Given the description of an element on the screen output the (x, y) to click on. 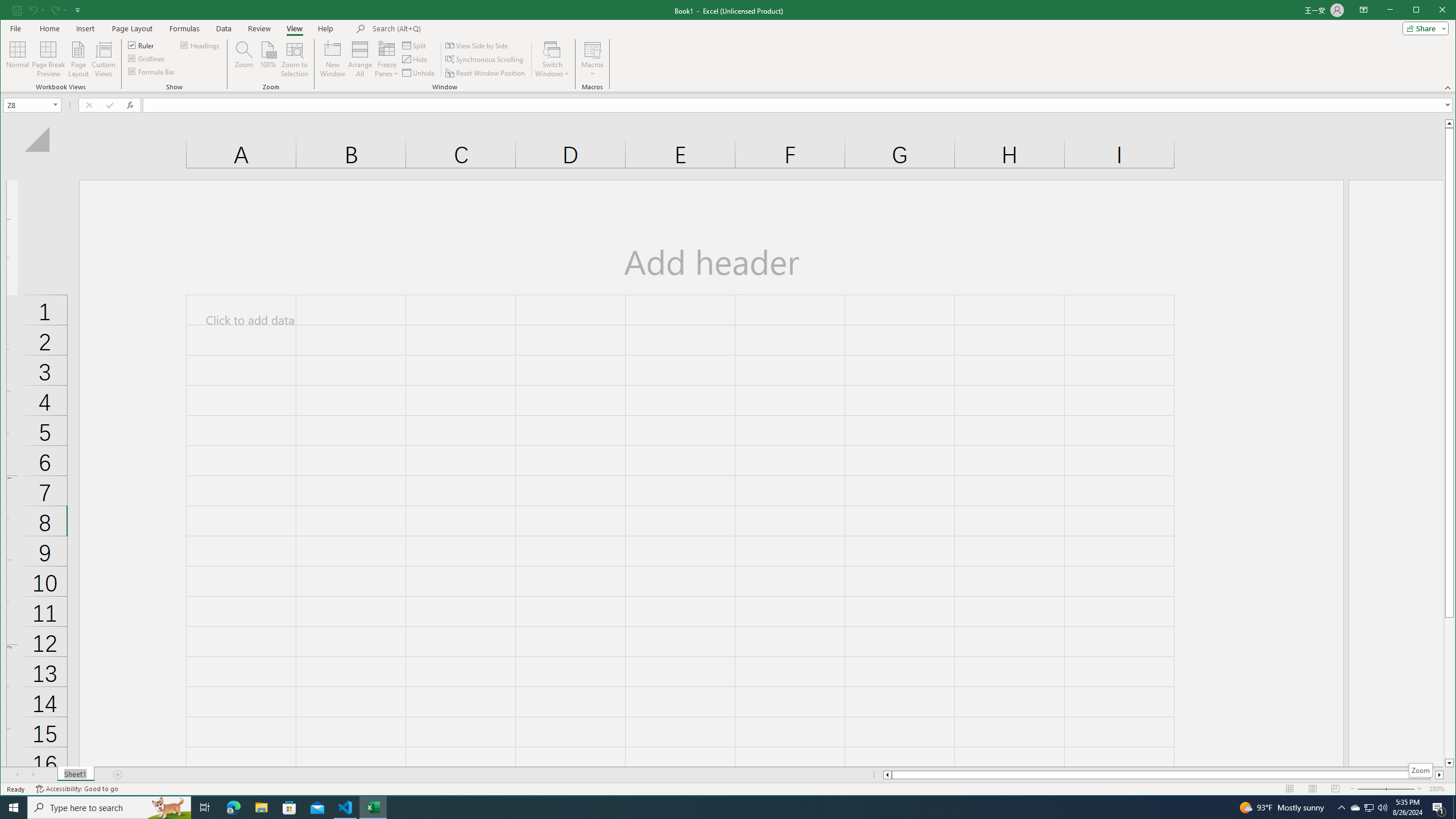
Column left (886, 774)
Scroll Left (18, 774)
Undo (36, 9)
Redo (58, 9)
Page right (1432, 774)
Zoom... (243, 59)
Quick Access Toolbar (46, 9)
Ruler (141, 44)
Excel - 1 running window (373, 807)
New Window (332, 59)
System (10, 10)
Headings (200, 44)
Running applications (717, 807)
Zoom (1384, 788)
Scroll Right (34, 774)
